Given the description of an element on the screen output the (x, y) to click on. 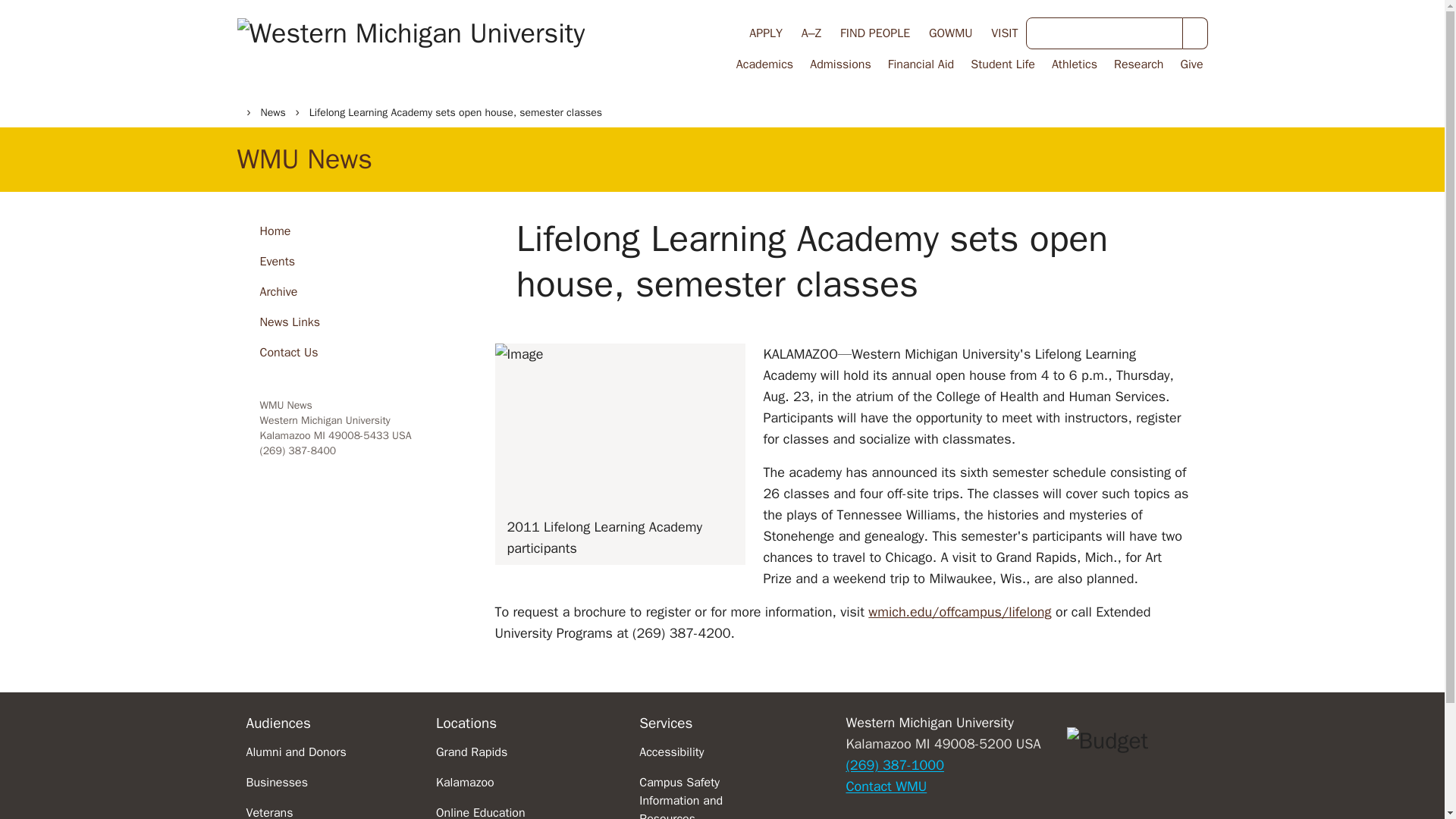
APPLY (766, 33)
Back to Western Michigan University home page (410, 48)
FIND PEOPLE (875, 33)
Athletics (1072, 64)
Academics (763, 64)
News (272, 112)
Financial Aid (919, 64)
Student Life (1000, 64)
GOWMU (950, 33)
